Given the description of an element on the screen output the (x, y) to click on. 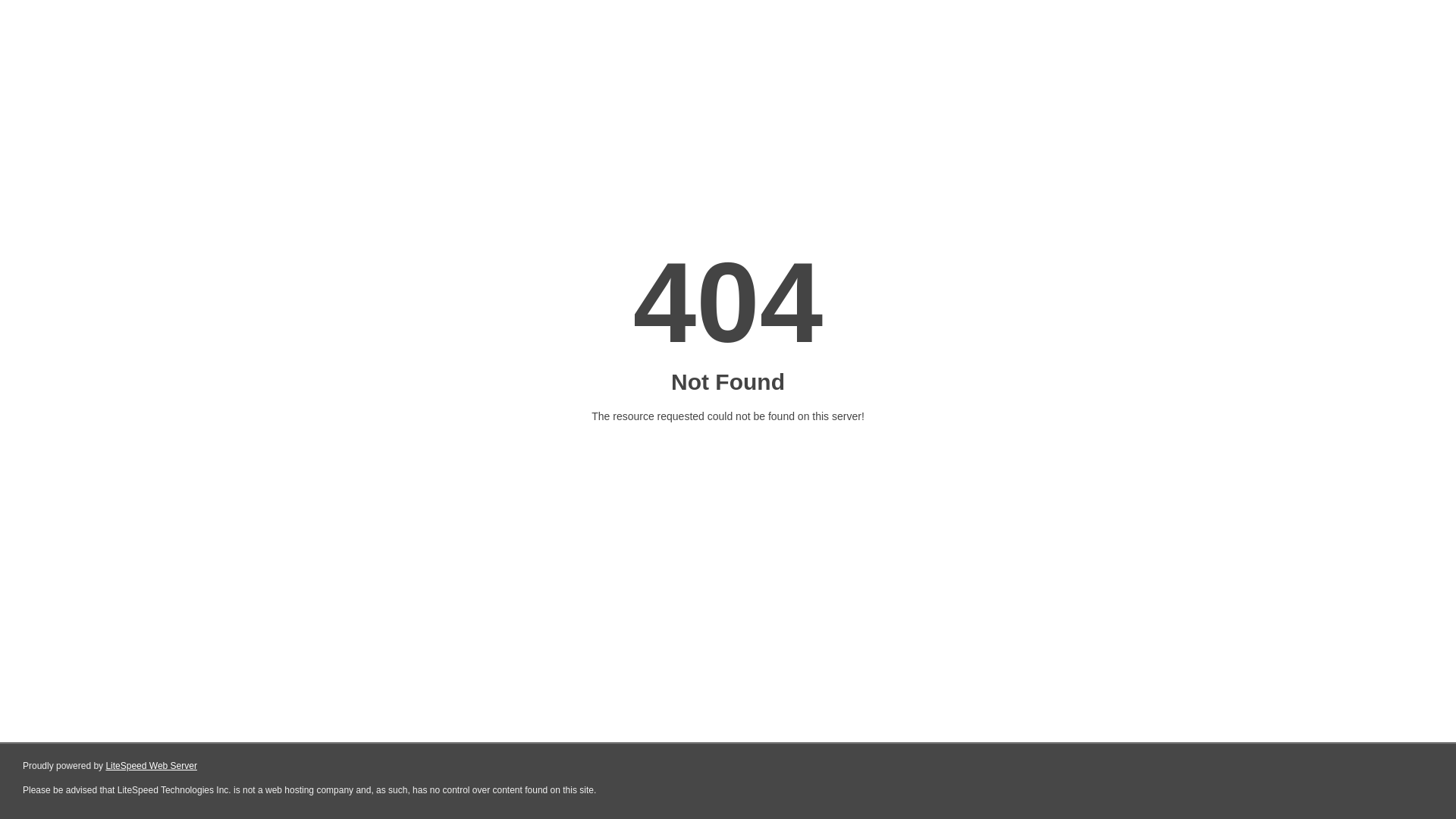
LiteSpeed Web Server Element type: text (151, 765)
